Given the description of an element on the screen output the (x, y) to click on. 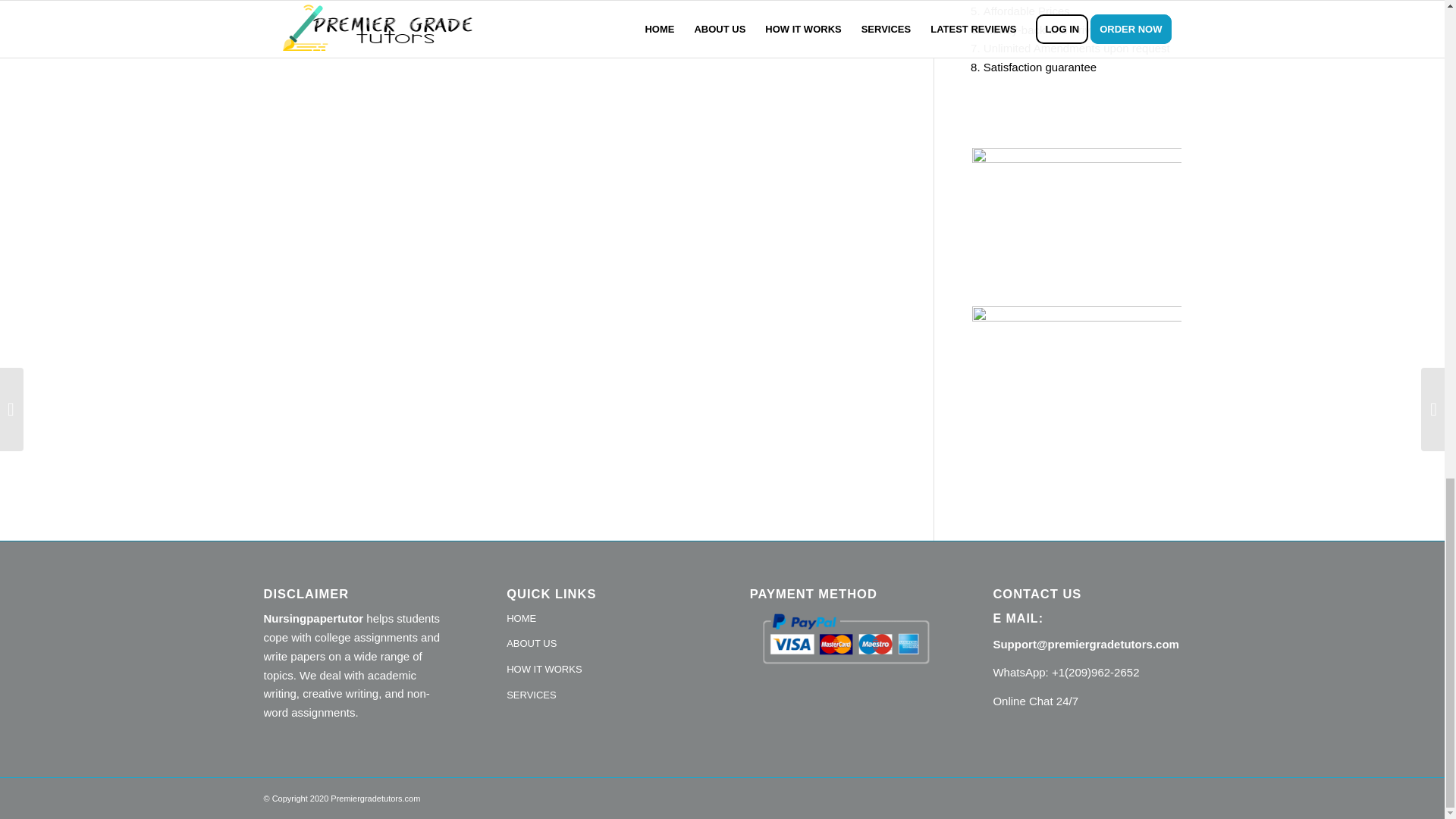
ABOUT US (600, 644)
SERVICES (600, 696)
HOME (600, 619)
HOW IT WORKS (600, 670)
